Given the description of an element on the screen output the (x, y) to click on. 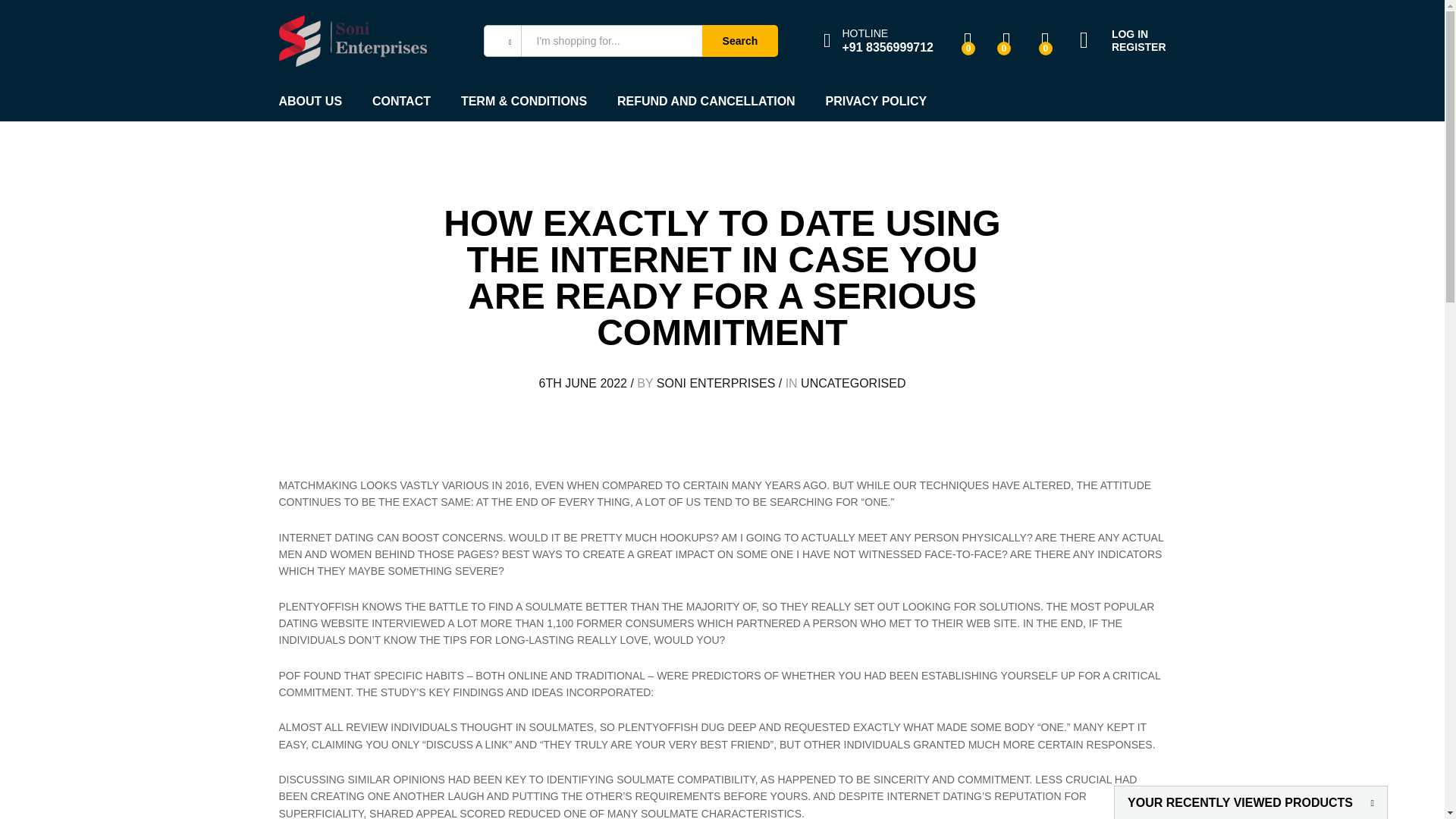
PRIVACY POLICY (876, 101)
Search (739, 40)
SONI ENTERPRISES (715, 382)
REFUND AND CANCELLATION (705, 101)
ABOUT US (310, 101)
LOG IN (1123, 33)
REGISTER (1123, 47)
CONTACT (401, 101)
6TH JUNE 2022 (582, 382)
UNCATEGORISED (852, 382)
